Given the description of an element on the screen output the (x, y) to click on. 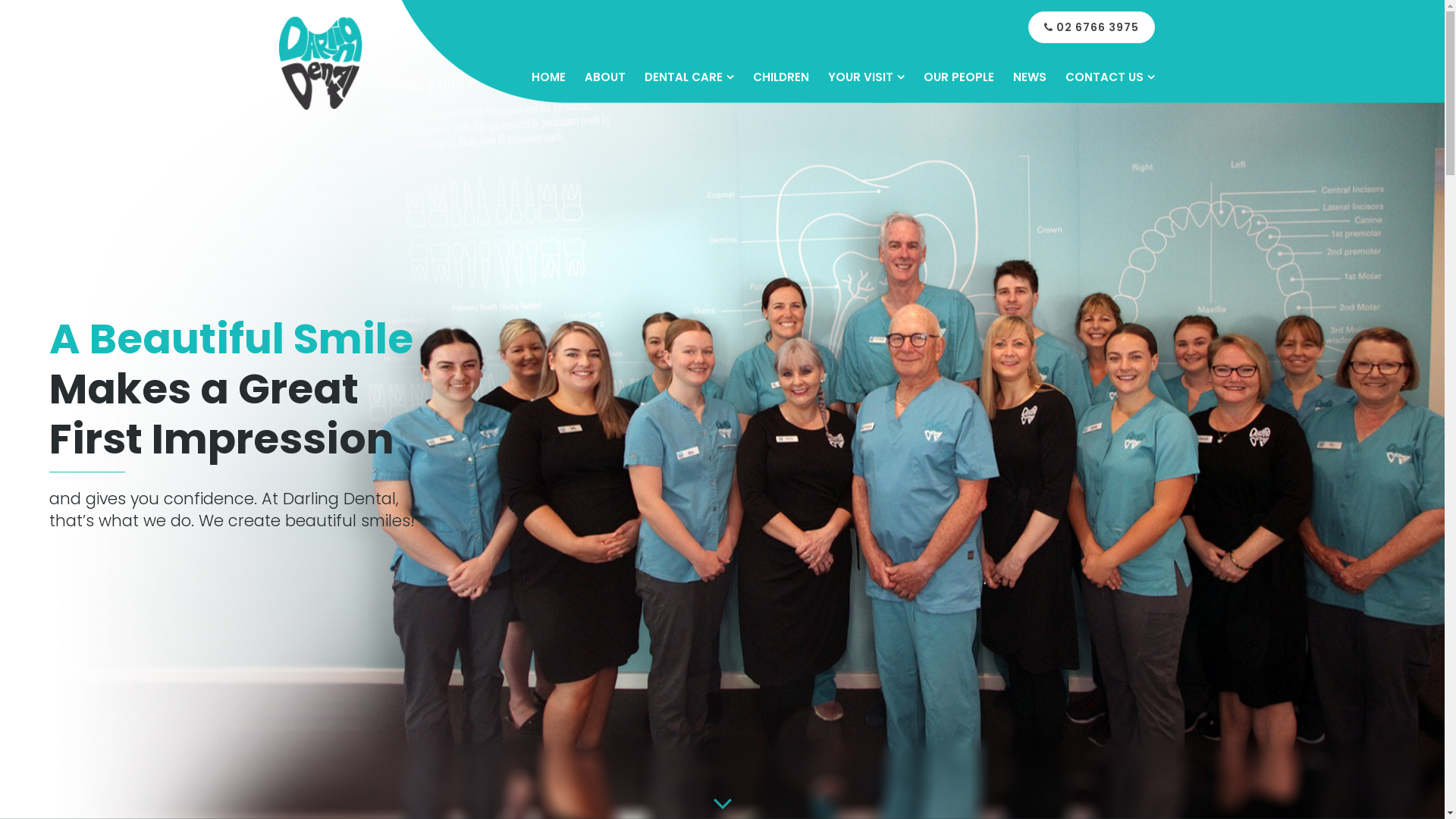
HOME Element type: text (547, 76)
DENTAL CARE Element type: text (689, 76)
02 6766 3975 Element type: text (1091, 27)
NEWS Element type: text (1029, 76)
CHILDREN Element type: text (780, 76)
OUR PEOPLE Element type: text (958, 76)
CONTACT US Element type: text (1109, 76)
YOUR VISIT Element type: text (866, 76)
ABOUT Element type: text (603, 76)
